Given the description of an element on the screen output the (x, y) to click on. 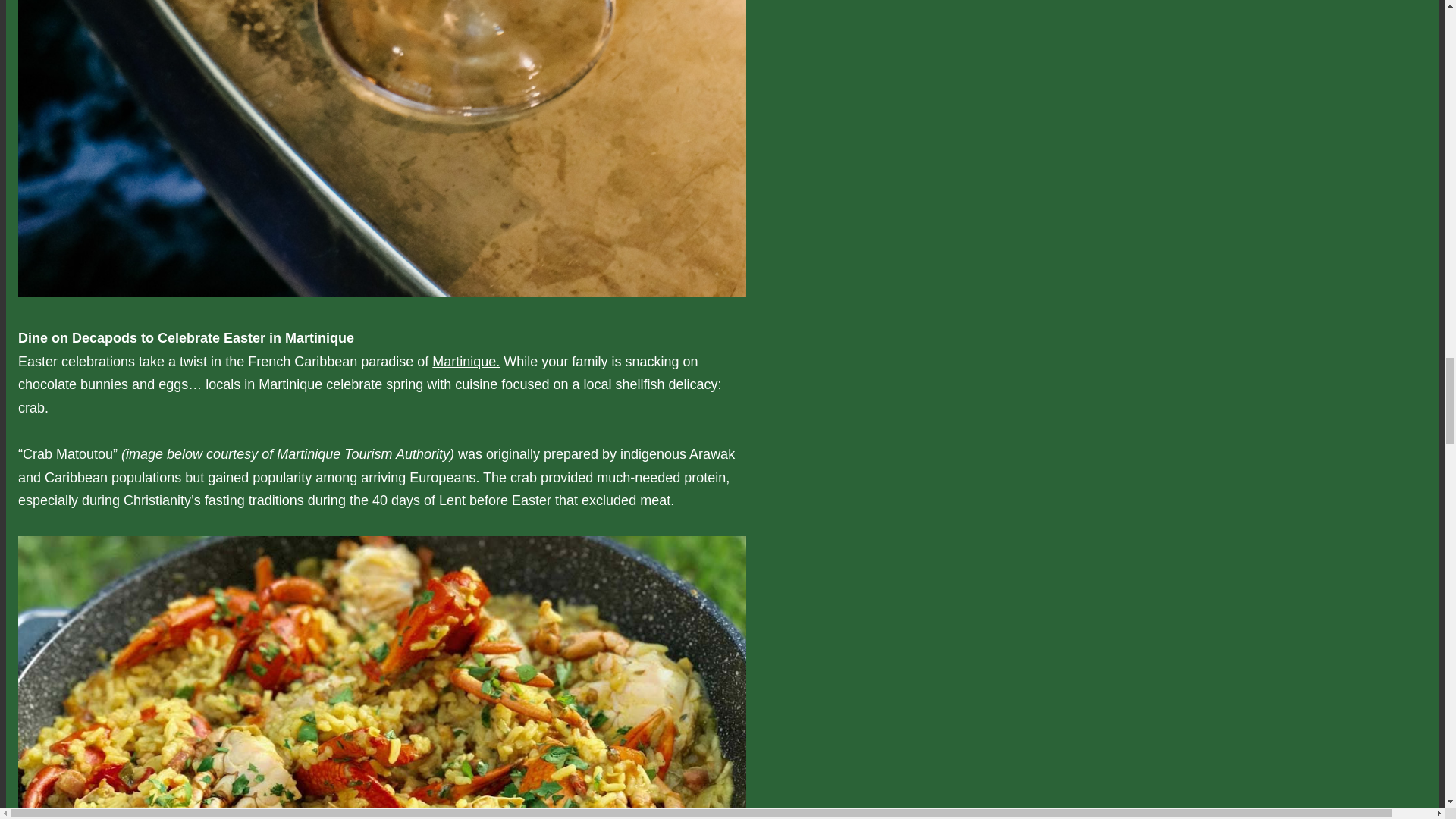
Martinique. (465, 361)
